Given the description of an element on the screen output the (x, y) to click on. 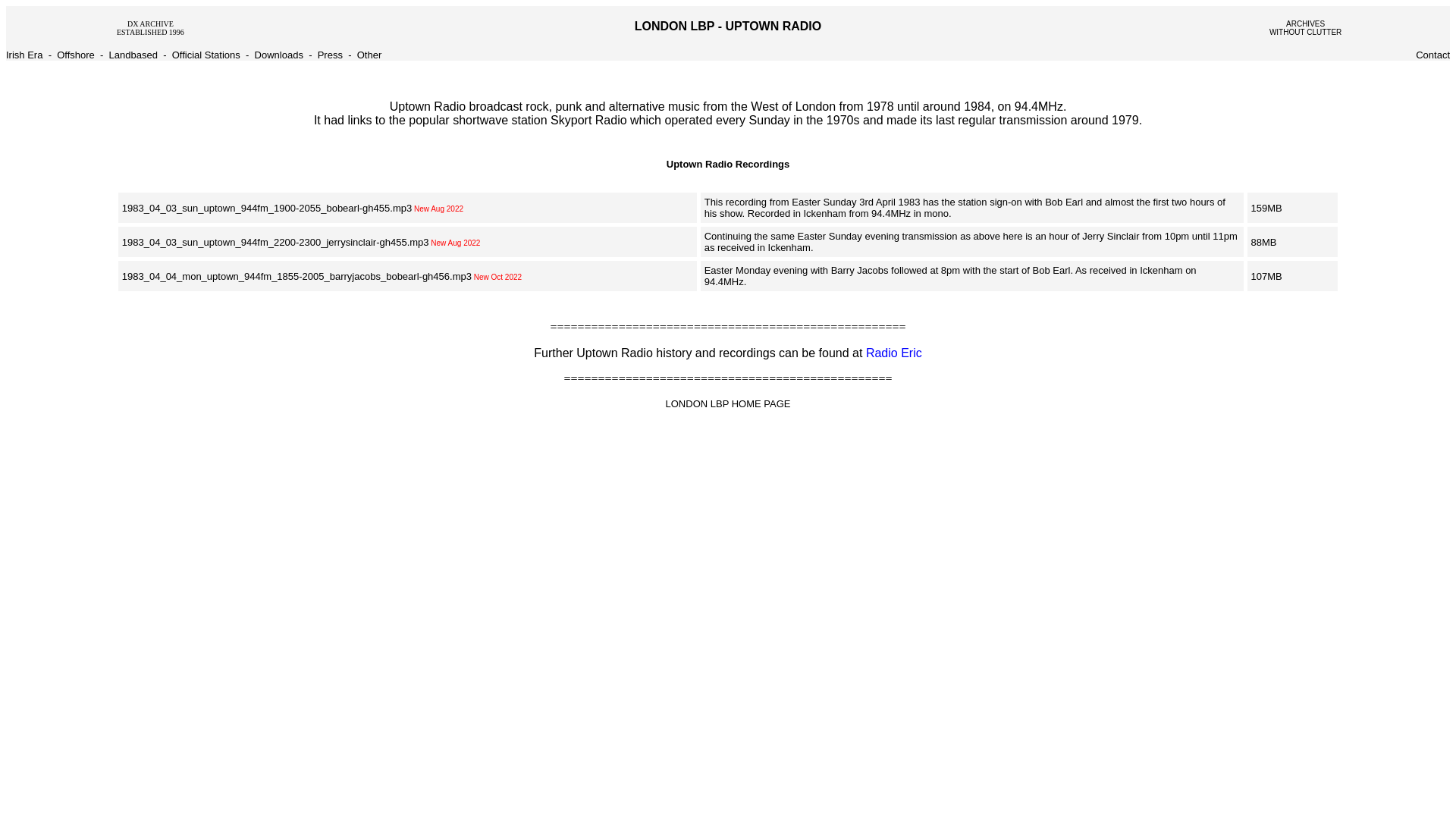
Downloads (278, 54)
Press (329, 54)
Official Stations (205, 54)
Other (368, 54)
Irish Era (23, 54)
LONDON LBP HOME PAGE (727, 403)
Contact (1432, 54)
Radio Eric (893, 352)
Landbased (133, 54)
Offshore (150, 27)
